Given the description of an element on the screen output the (x, y) to click on. 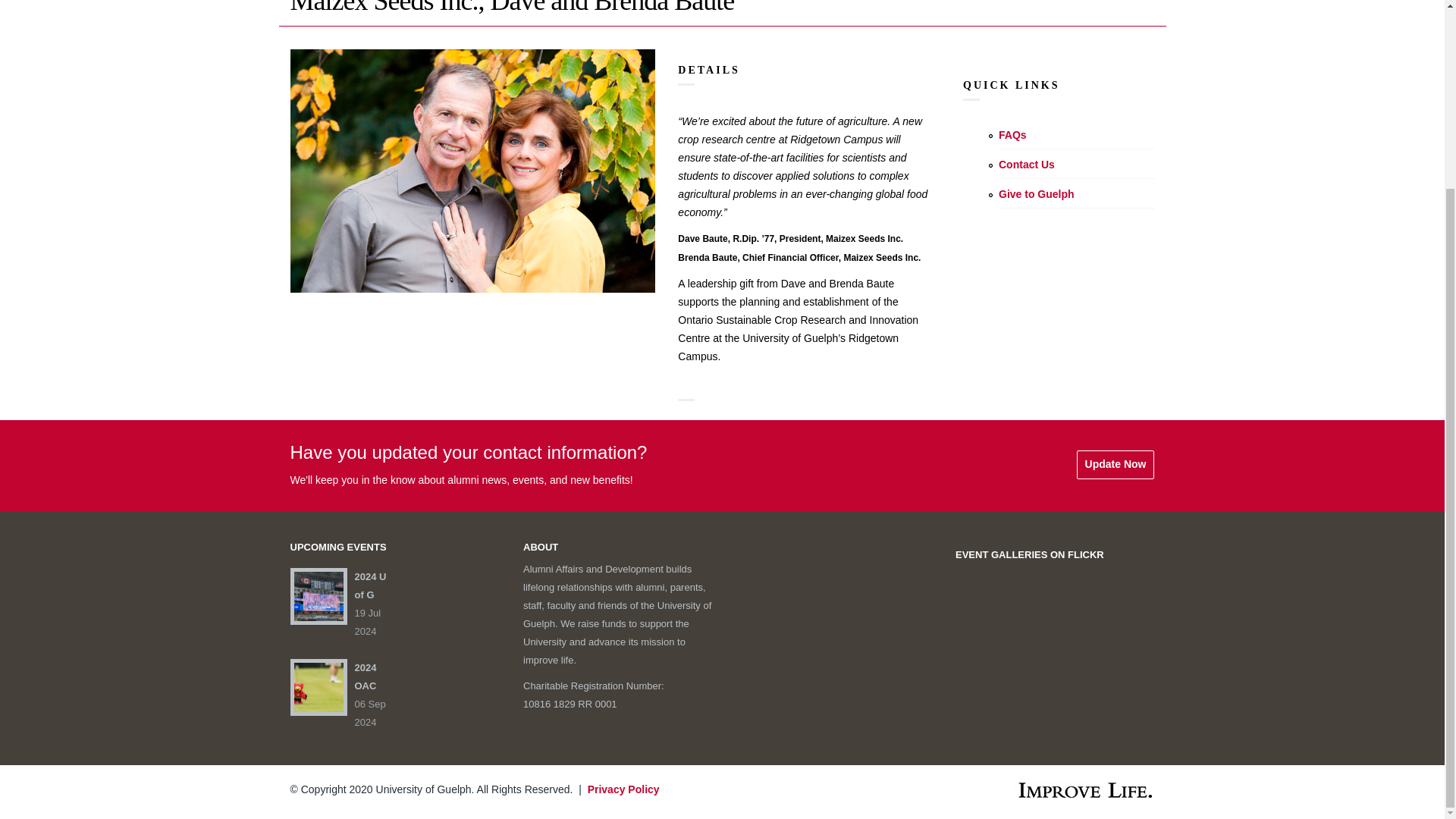
Improve Life (1072, 789)
Dave and Brenda Baute (472, 170)
